Given the description of an element on the screen output the (x, y) to click on. 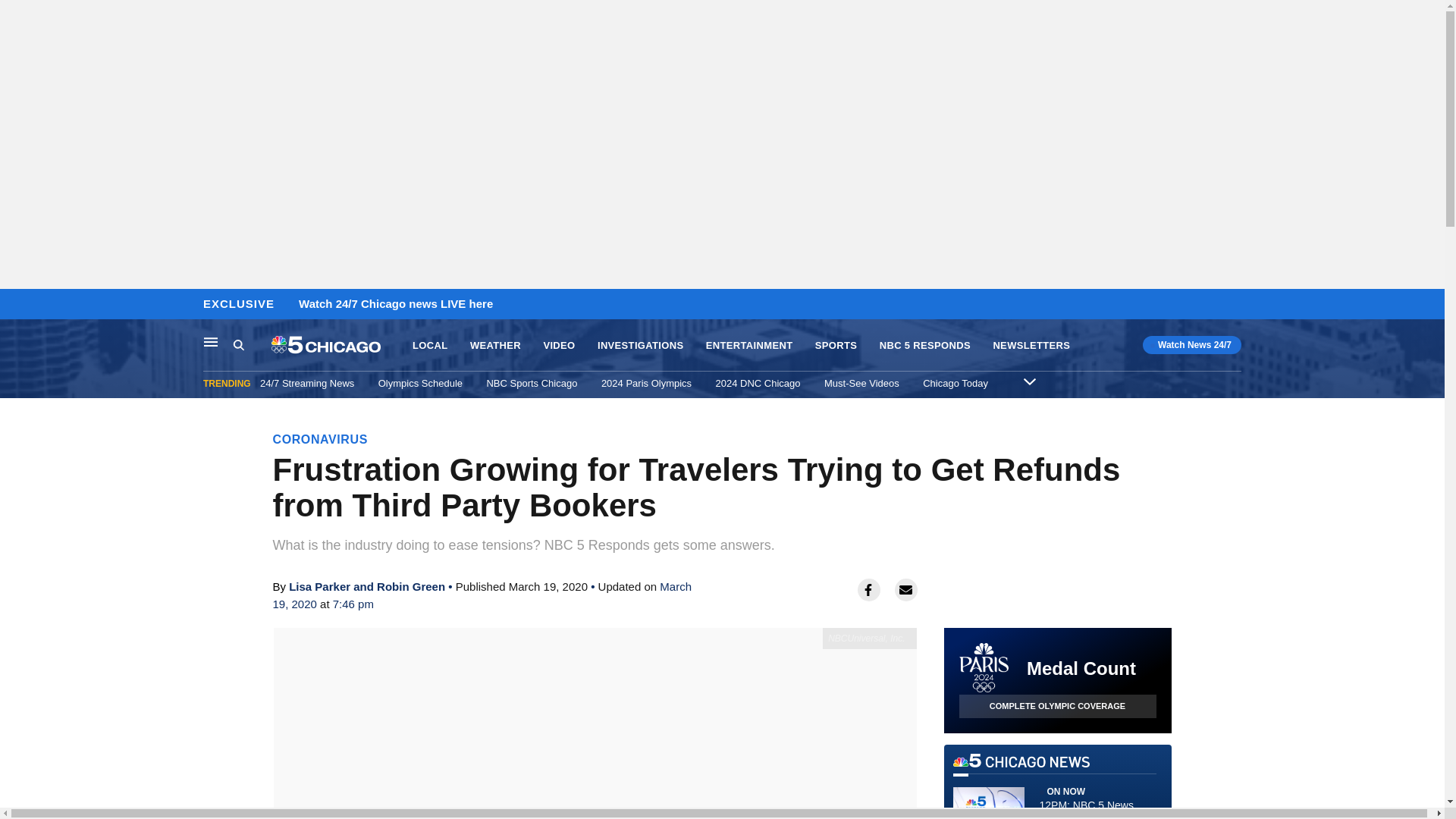
INVESTIGATIONS (639, 345)
Expand (1029, 381)
2024 Paris Olympics (646, 383)
Chicago Today (955, 383)
Olympics Schedule (420, 383)
NBC Sports Chicago (531, 383)
Search (238, 344)
CORONAVIRUS (320, 439)
NEWSLETTERS (1031, 345)
Search (252, 345)
LOCAL (429, 345)
Lisa Parker and Robin Green (366, 585)
VIDEO (559, 345)
Skip to content (16, 304)
SPORTS (836, 345)
